Given the description of an element on the screen output the (x, y) to click on. 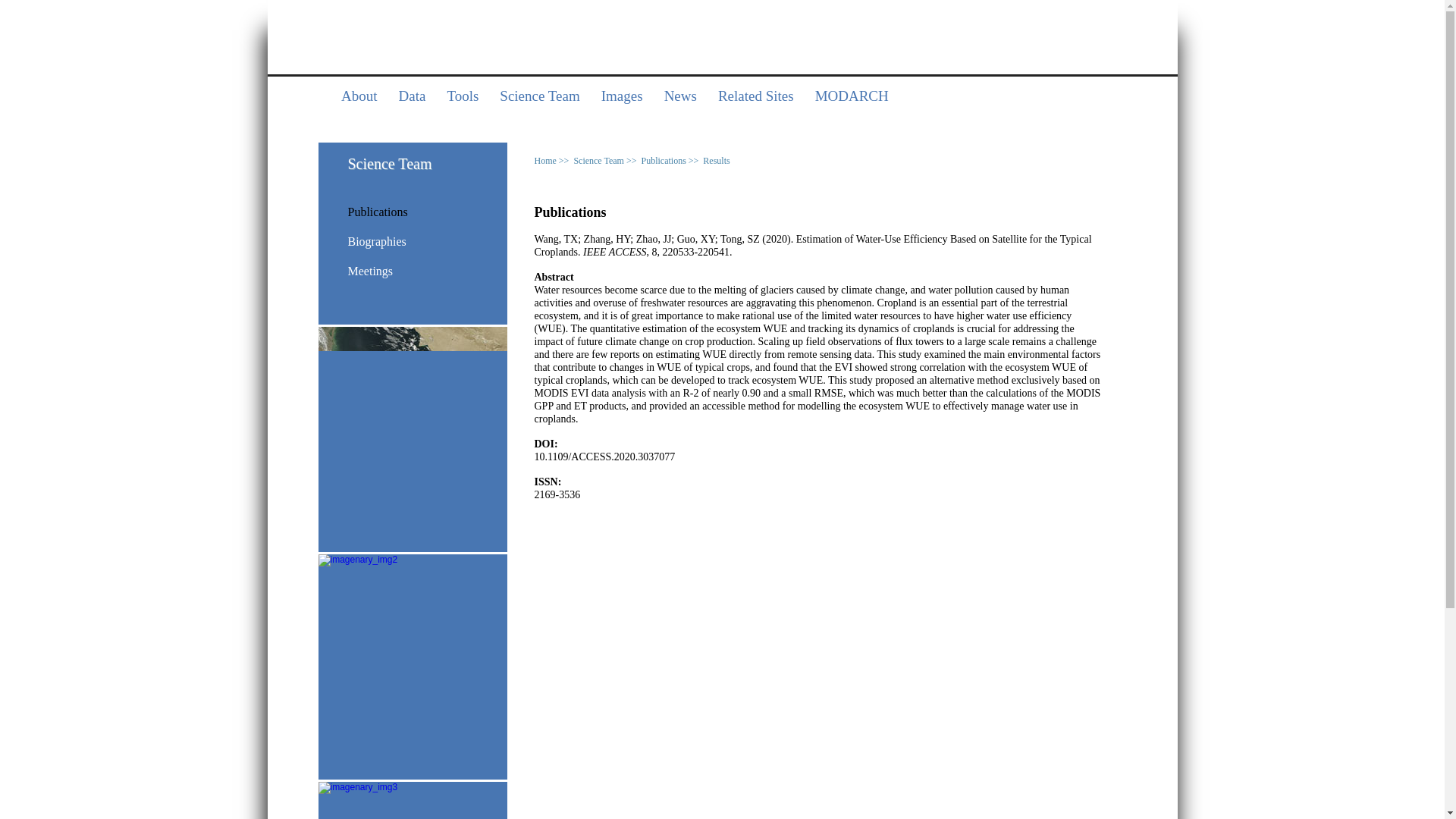
About (358, 96)
Data (412, 96)
Link To NASA website (722, 28)
